Given the description of an element on the screen output the (x, y) to click on. 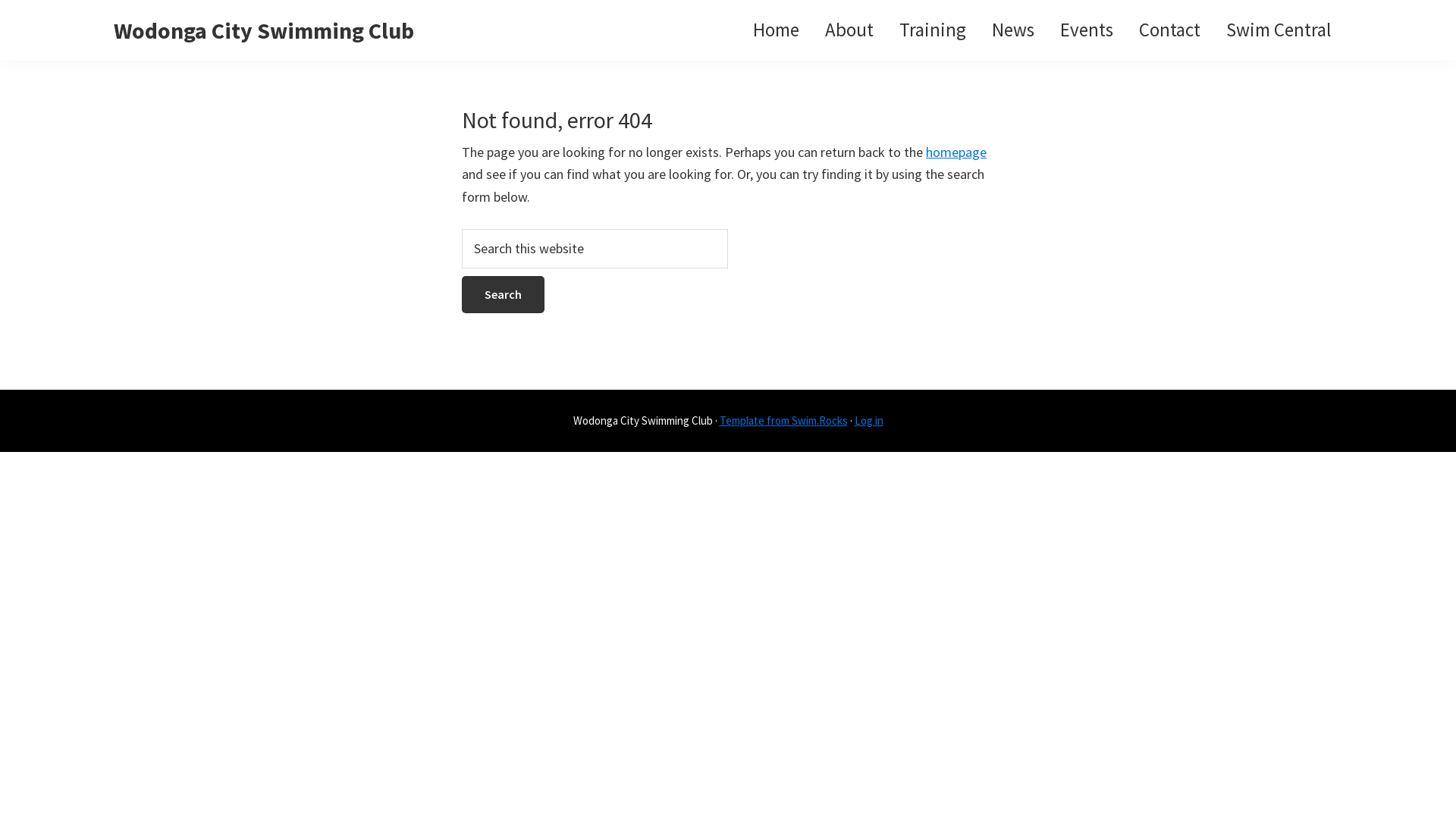
Search Element type: text (502, 294)
Events Element type: text (1086, 29)
Wodonga City Swimming Club Element type: text (263, 29)
Template from Swim.Rocks Element type: text (782, 420)
Contact Element type: text (1169, 29)
About Element type: text (848, 29)
Home Element type: text (775, 29)
homepage Element type: text (955, 151)
Training Element type: text (932, 29)
Log in Element type: text (867, 420)
Skip to primary navigation Element type: text (0, 0)
Swim Central Element type: text (1278, 29)
News Element type: text (1012, 29)
